Given the description of an element on the screen output the (x, y) to click on. 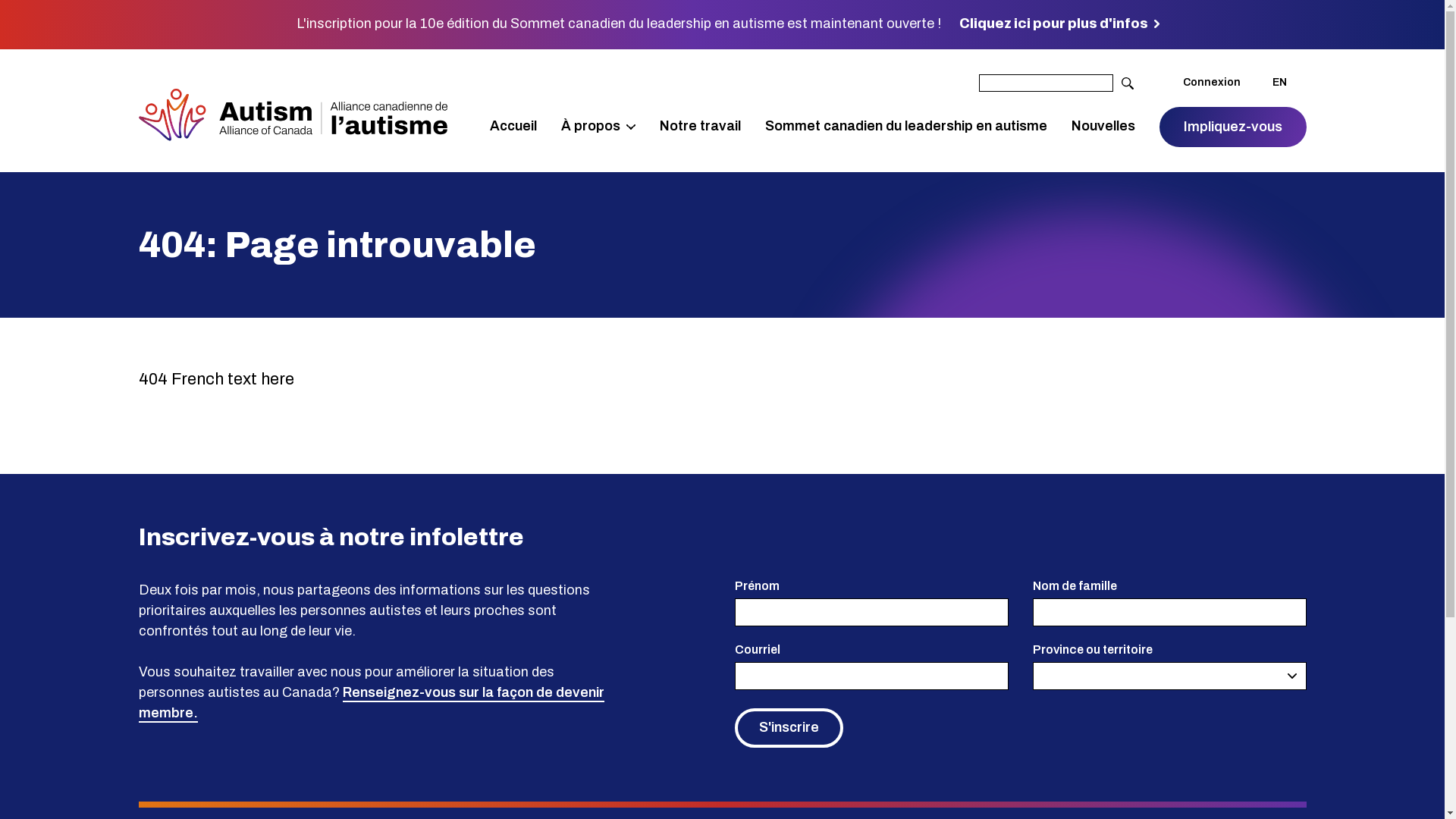
Rechercher Element type: text (1126, 83)
Autism Alliance of Canada | Alliance canadienne de l'autisme Element type: text (292, 117)
Sommet canadien du leadership en autisme Element type: text (905, 127)
Nouvelles Element type: text (1102, 127)
Connexion Element type: text (1211, 82)
S'inscrire Element type: text (788, 727)
Accueil Element type: text (512, 127)
Notre travail Element type: text (699, 127)
Impliquez-vous Element type: text (1231, 126)
EN Element type: text (1279, 82)
Cliquez ici pour plus d'infos Element type: text (1053, 24)
